Given the description of an element on the screen output the (x, y) to click on. 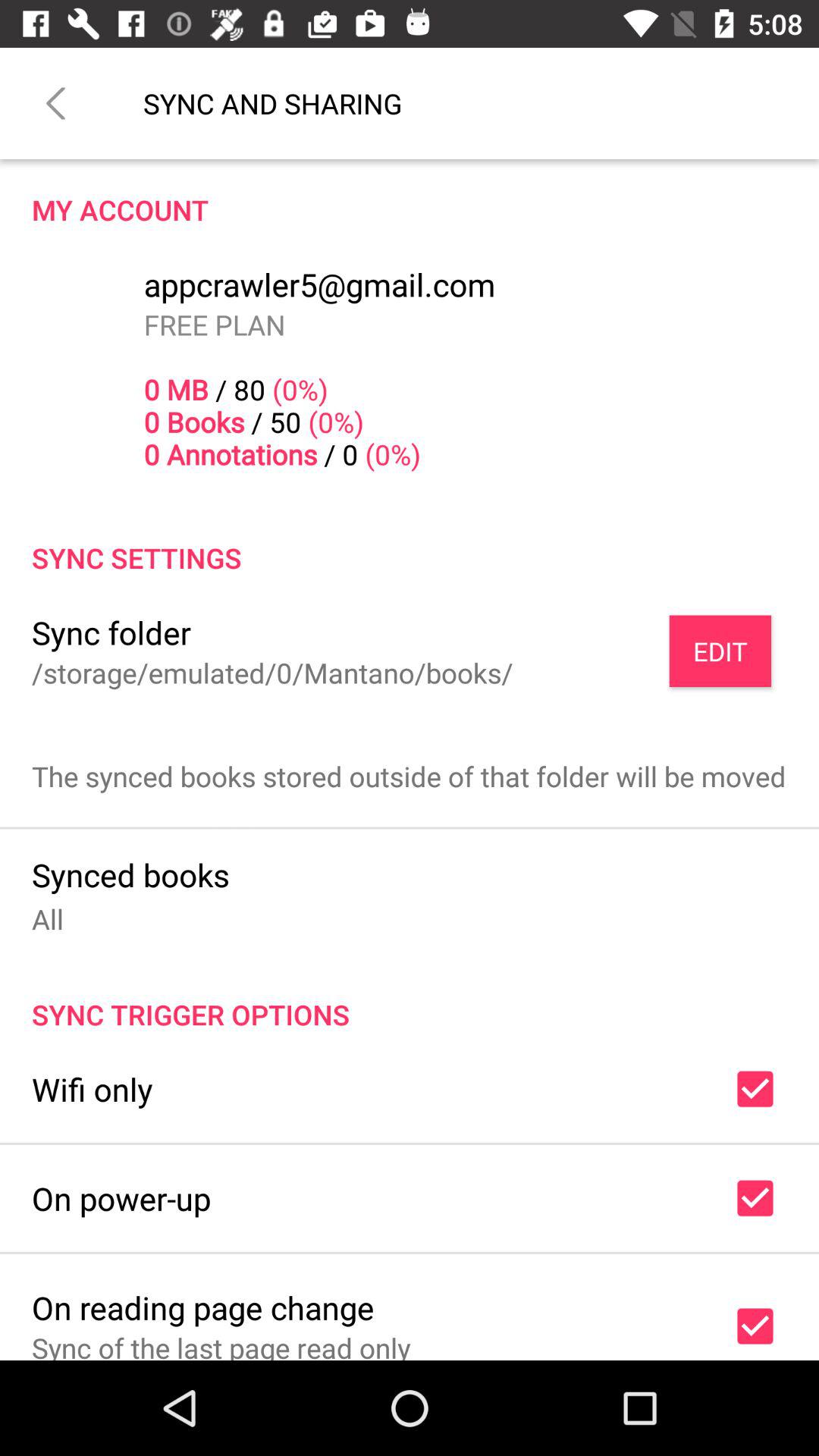
go back (55, 103)
